Given the description of an element on the screen output the (x, y) to click on. 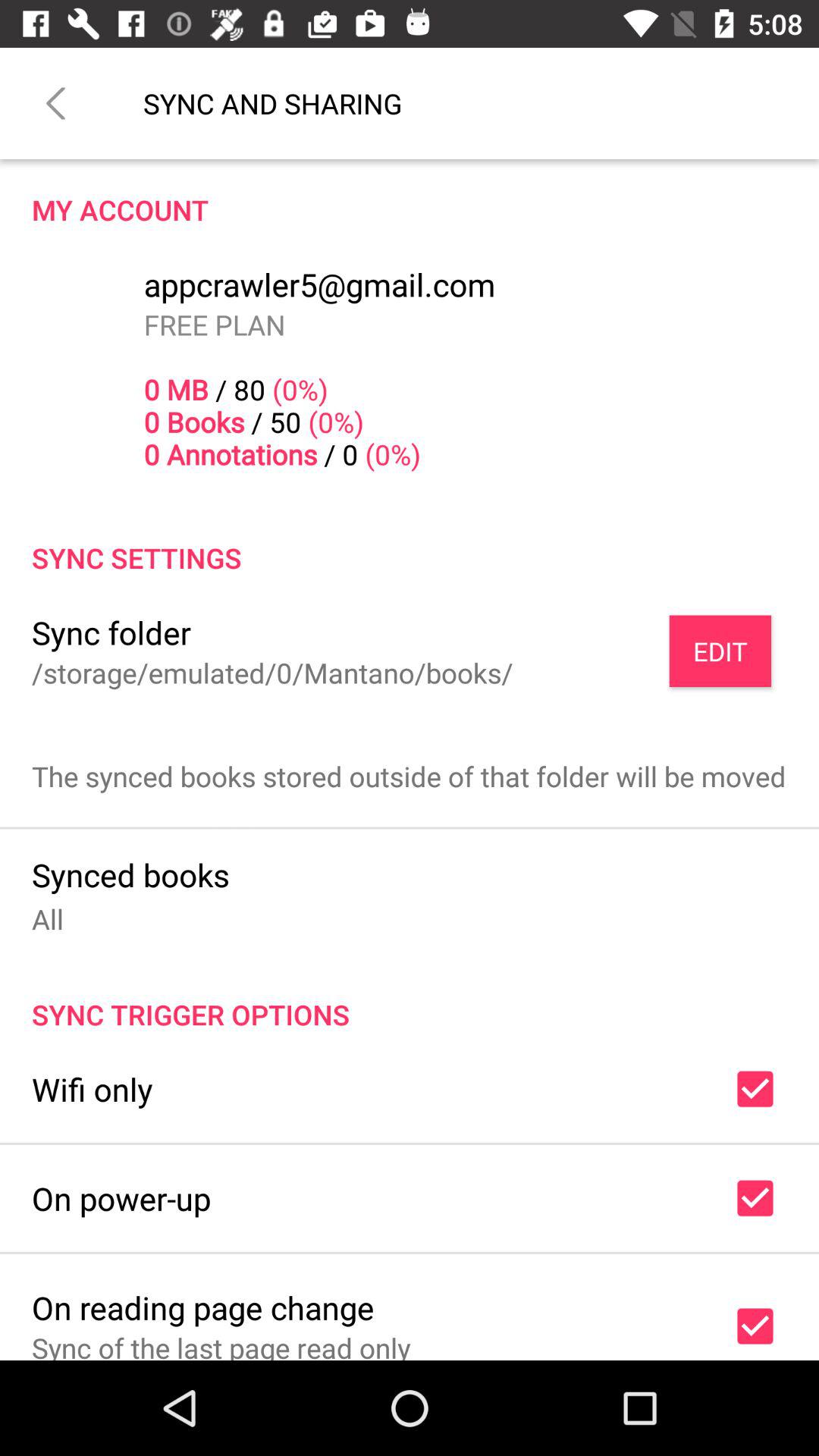
go back (55, 103)
